Given the description of an element on the screen output the (x, y) to click on. 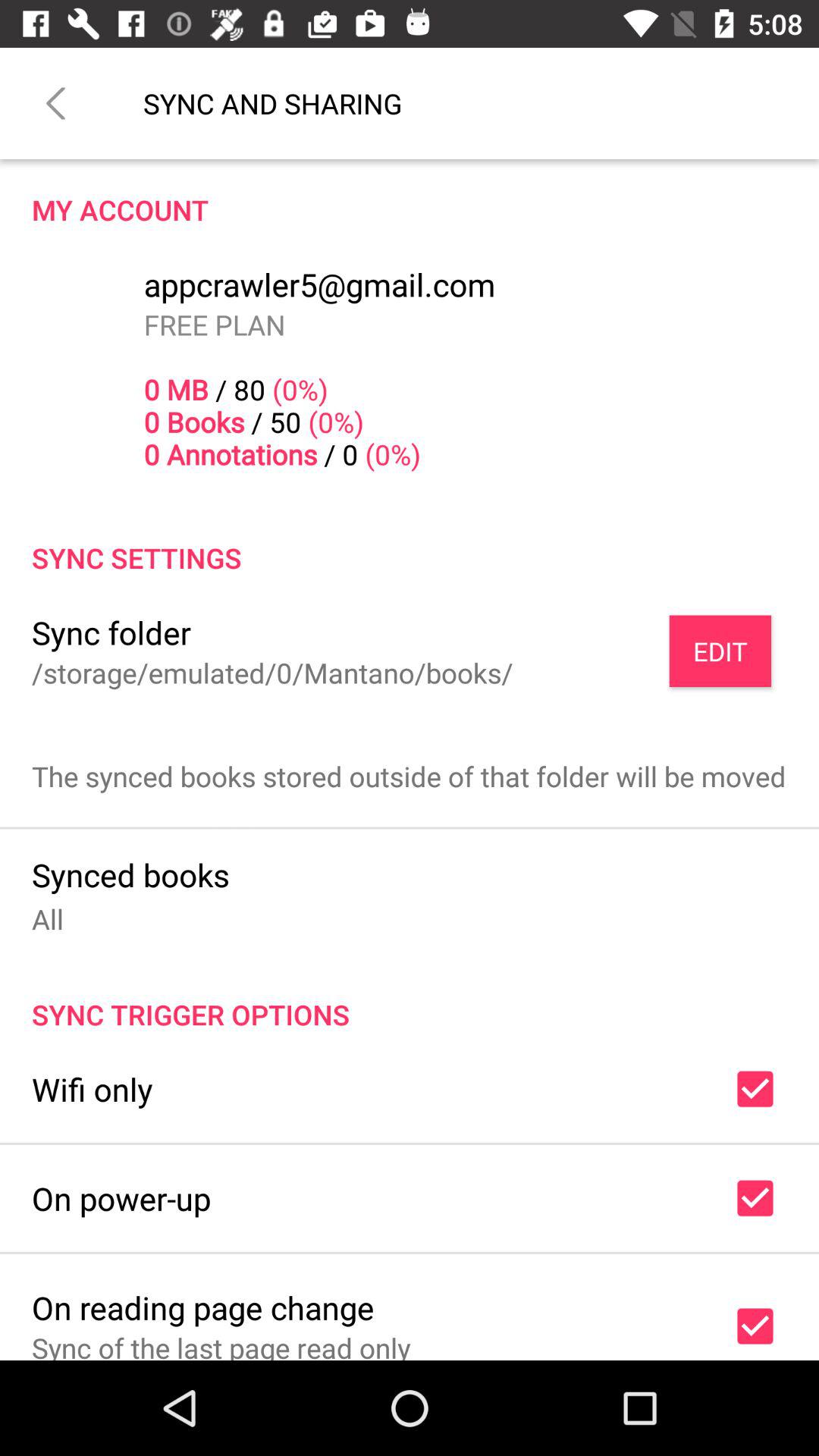
go back (55, 103)
